Given the description of an element on the screen output the (x, y) to click on. 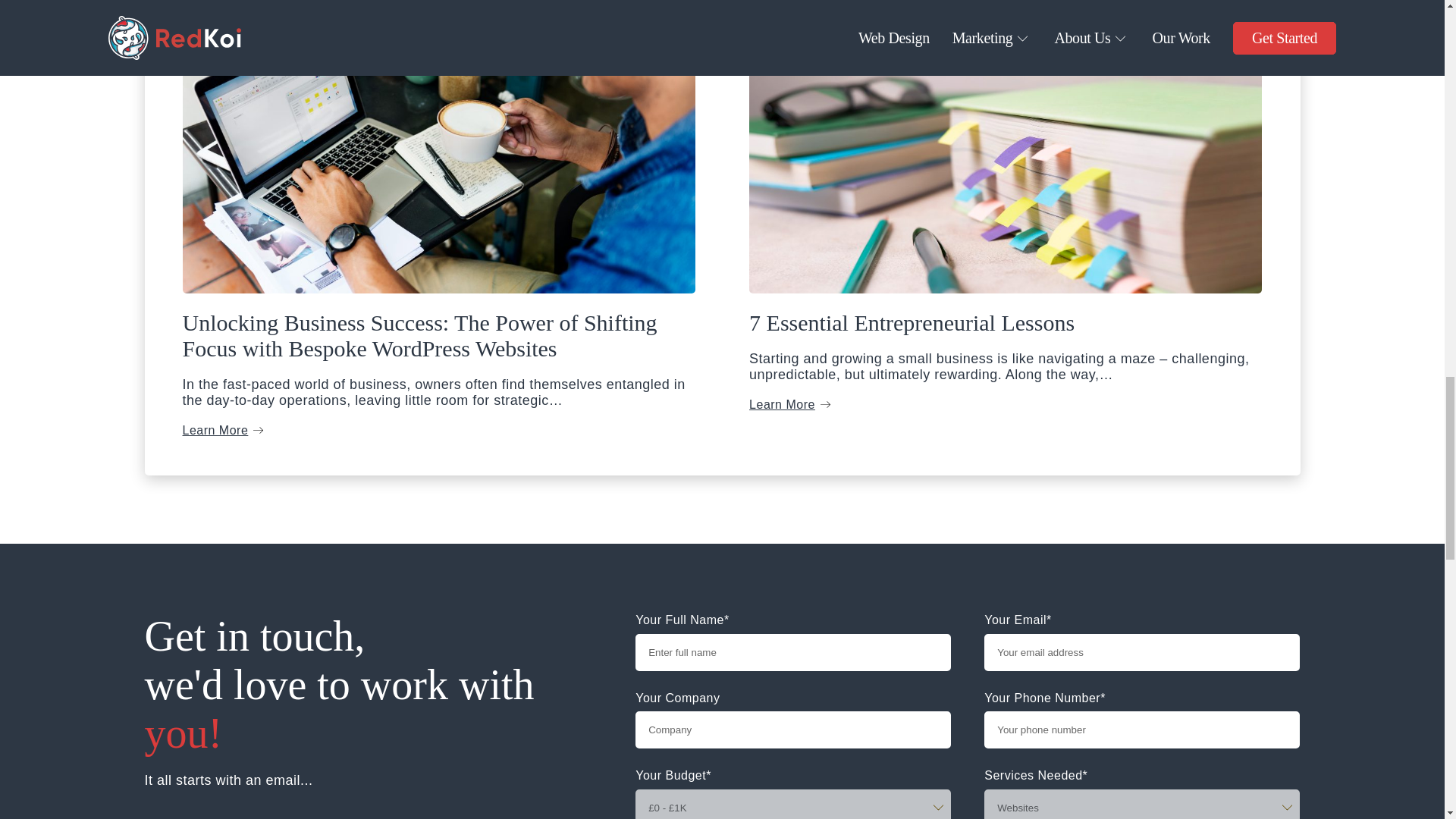
Learn More (224, 430)
Learn More (791, 404)
